Given the description of an element on the screen output the (x, y) to click on. 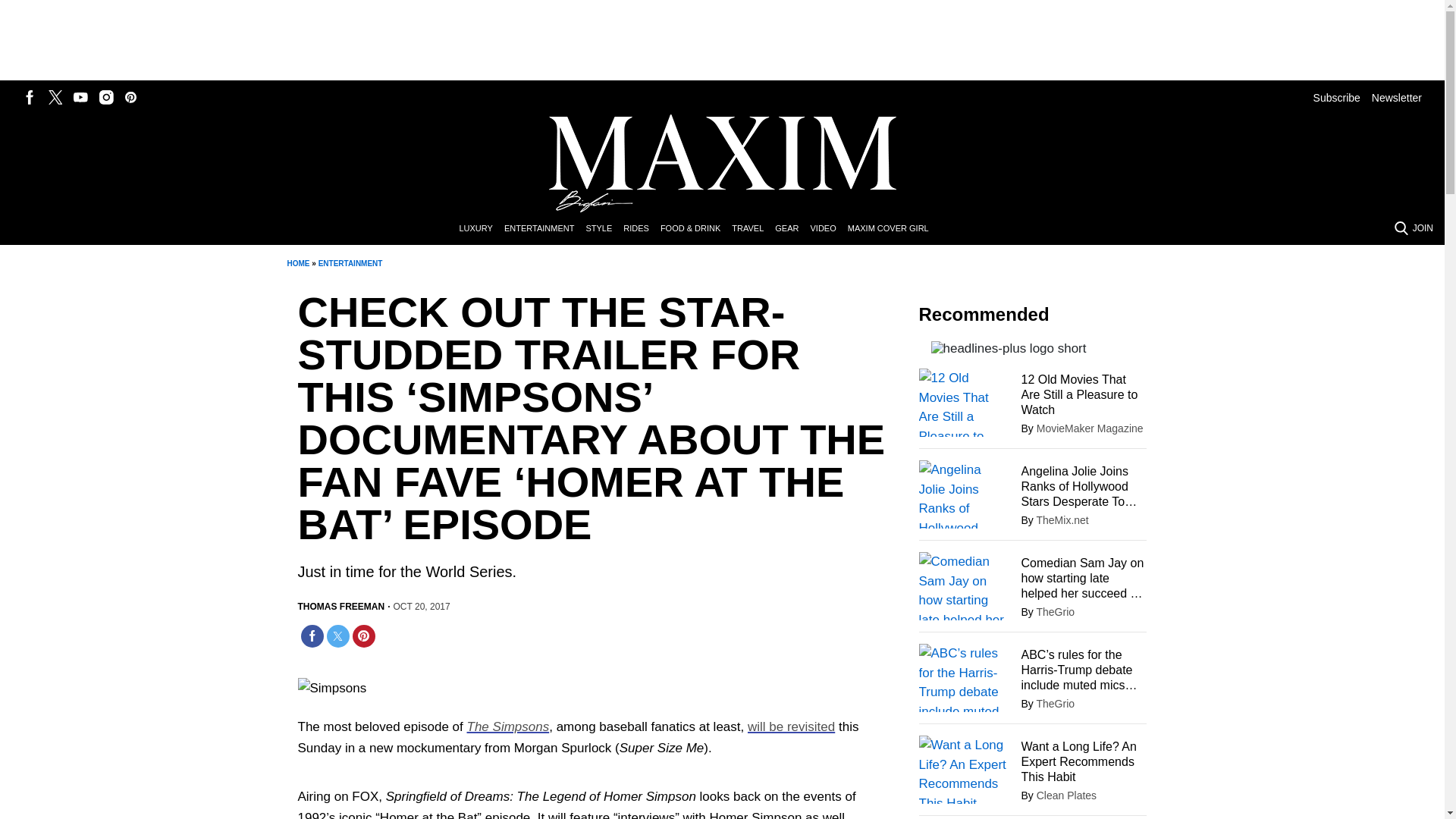
RIDES (642, 228)
LUXURY (480, 228)
Share on Facebook (311, 635)
ENTERTAINMENT (350, 263)
Follow us on Youtube (80, 97)
Newsletter (1396, 97)
VIDEO (828, 228)
ENTERTAINMENT (544, 228)
GEAR (791, 228)
JOIN (1422, 228)
